Given the description of an element on the screen output the (x, y) to click on. 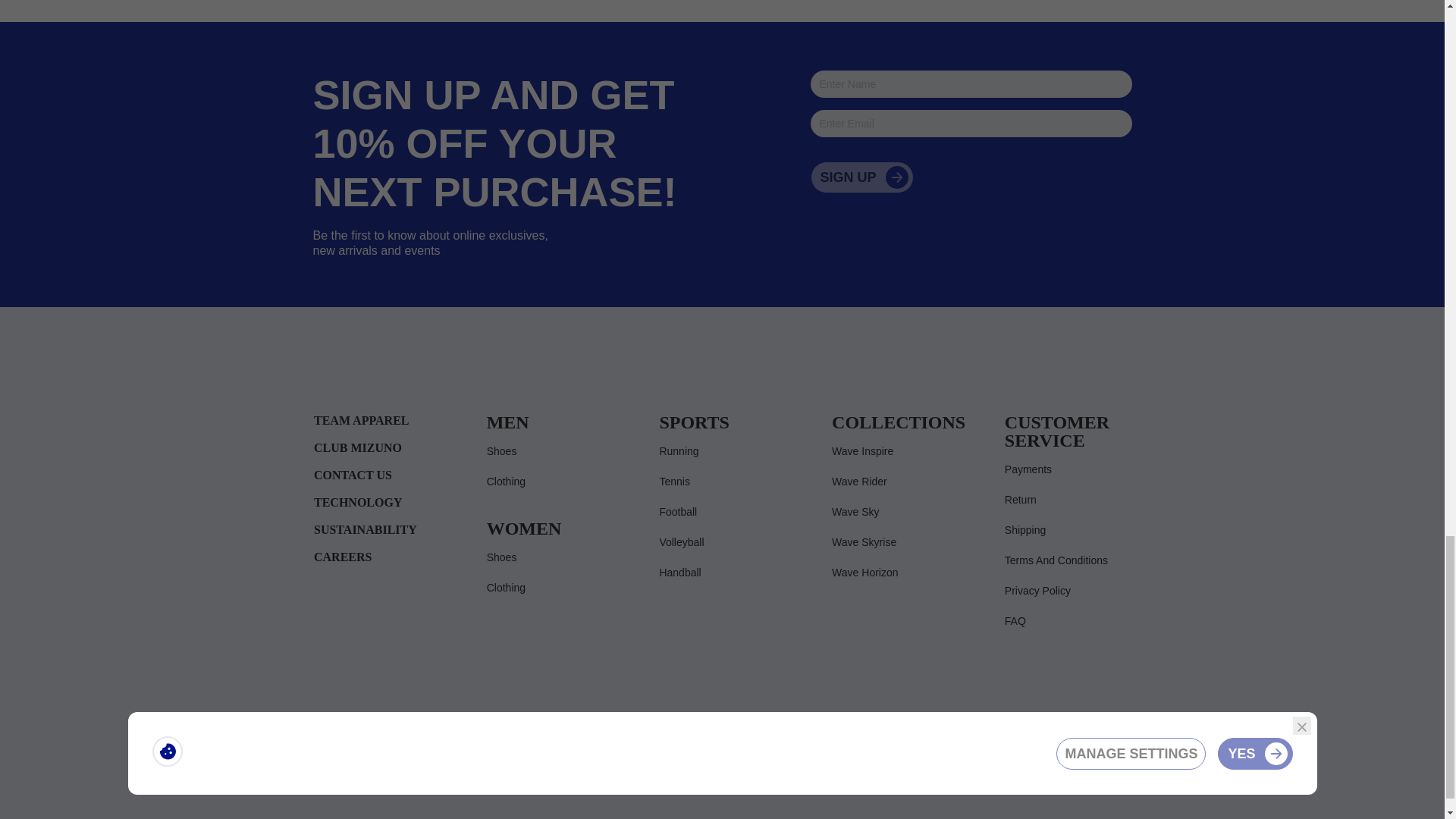
Go to Instagram (1052, 743)
Go to YouTube (1112, 743)
Go to Facebook (991, 743)
Go to LinkedIn (1083, 743)
Go to Twitter (1021, 743)
